Given the description of an element on the screen output the (x, y) to click on. 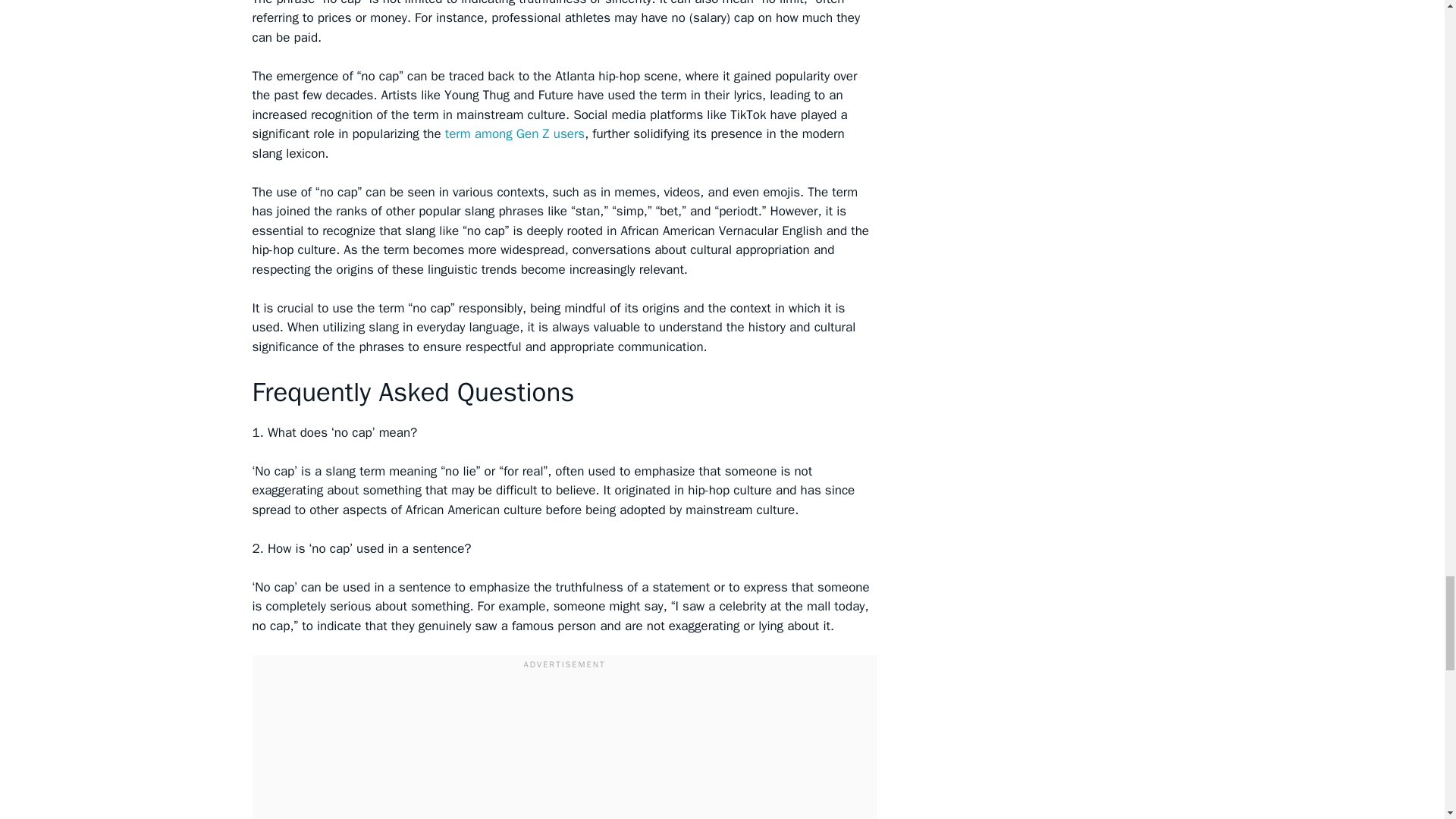
term among Gen Z users (515, 133)
